Given the description of an element on the screen output the (x, y) to click on. 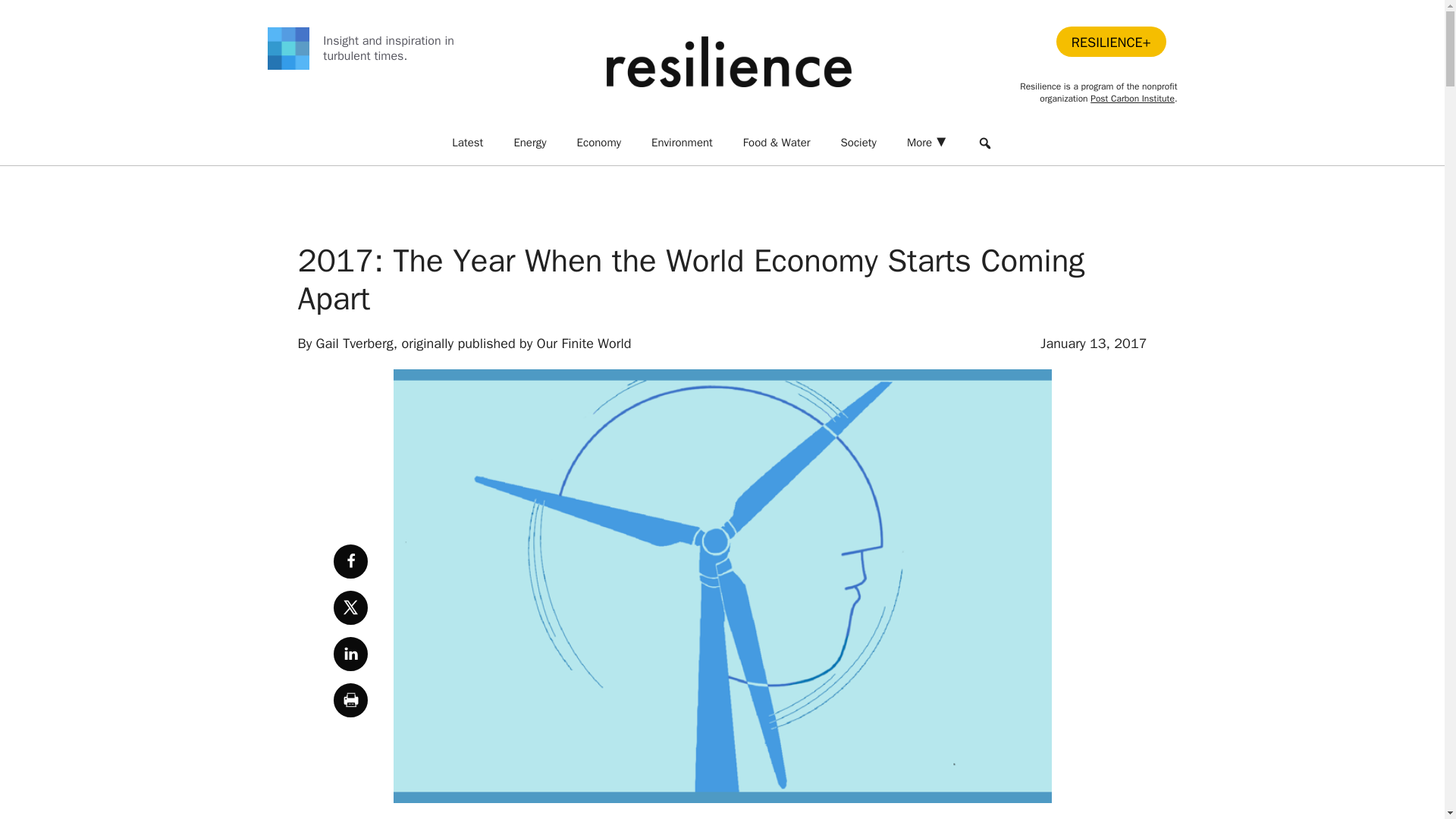
Share on X (350, 607)
Print this webpage (350, 700)
Share on LinkedIn (350, 653)
Share on Facebook (350, 561)
Post Carbon Institute (1132, 98)
